Given the description of an element on the screen output the (x, y) to click on. 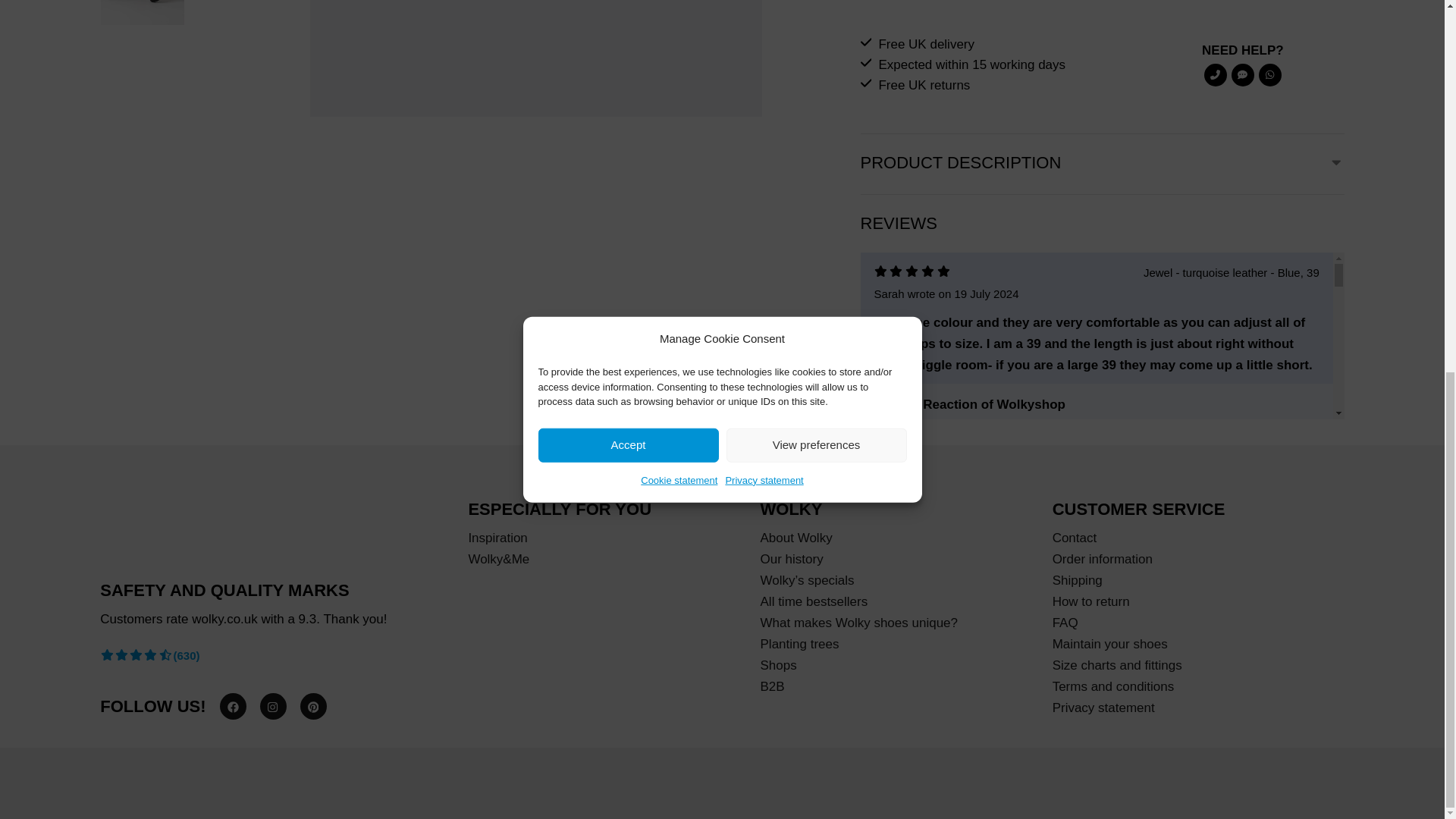
dhl (343, 779)
paypal (142, 779)
mastercard (208, 779)
